Given the description of an element on the screen output the (x, y) to click on. 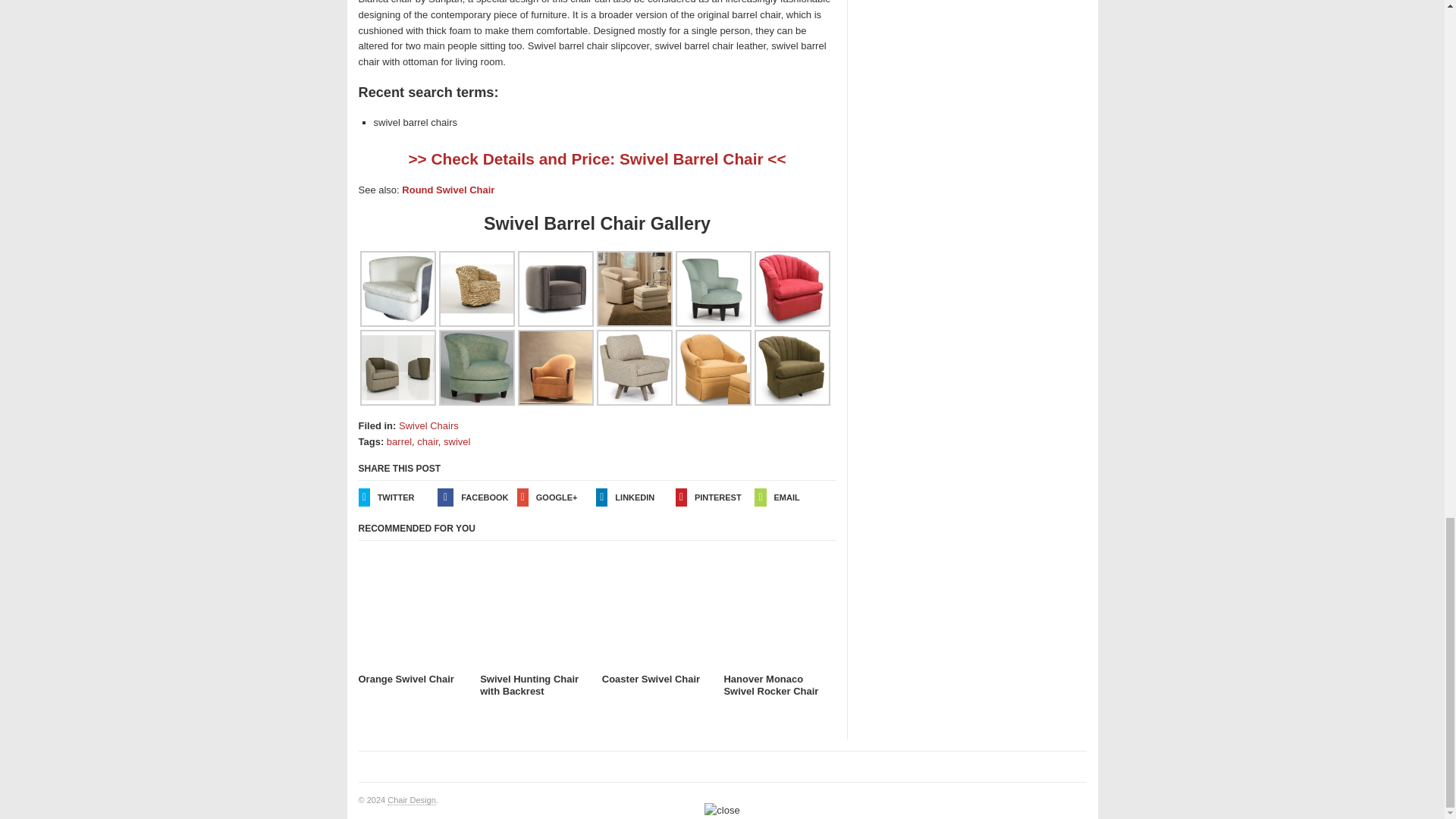
LINKEDIN (635, 497)
chair (427, 441)
swivel (457, 441)
Round Swivel Chair (448, 189)
FACEBOOK (477, 497)
Swivel Chairs (428, 425)
EMAIL (794, 497)
PINTEREST (715, 497)
TWITTER (398, 497)
barrel (399, 441)
